Given the description of an element on the screen output the (x, y) to click on. 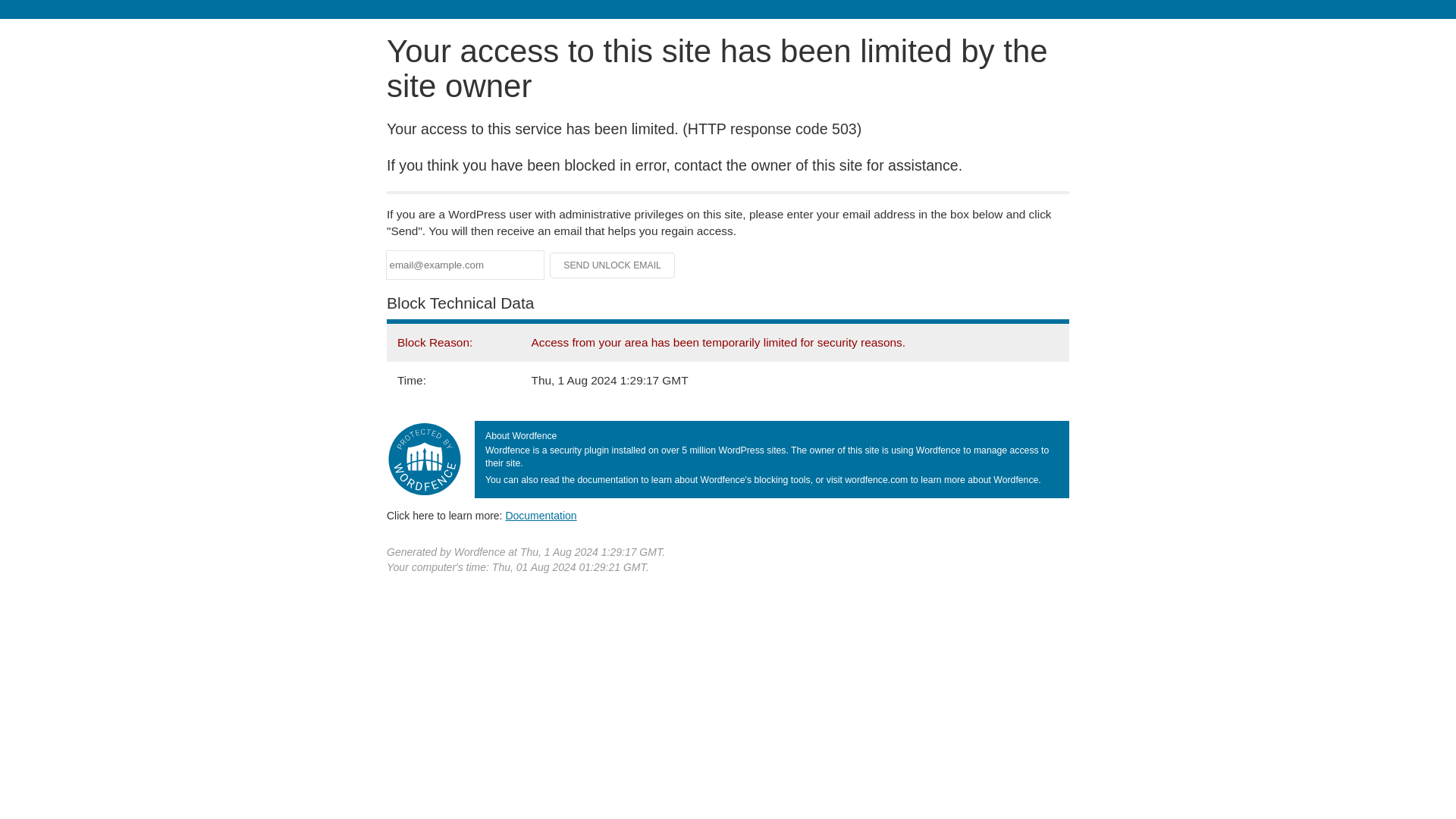
Send Unlock Email (612, 265)
Send Unlock Email (612, 265)
Documentation (540, 515)
